Given the description of an element on the screen output the (x, y) to click on. 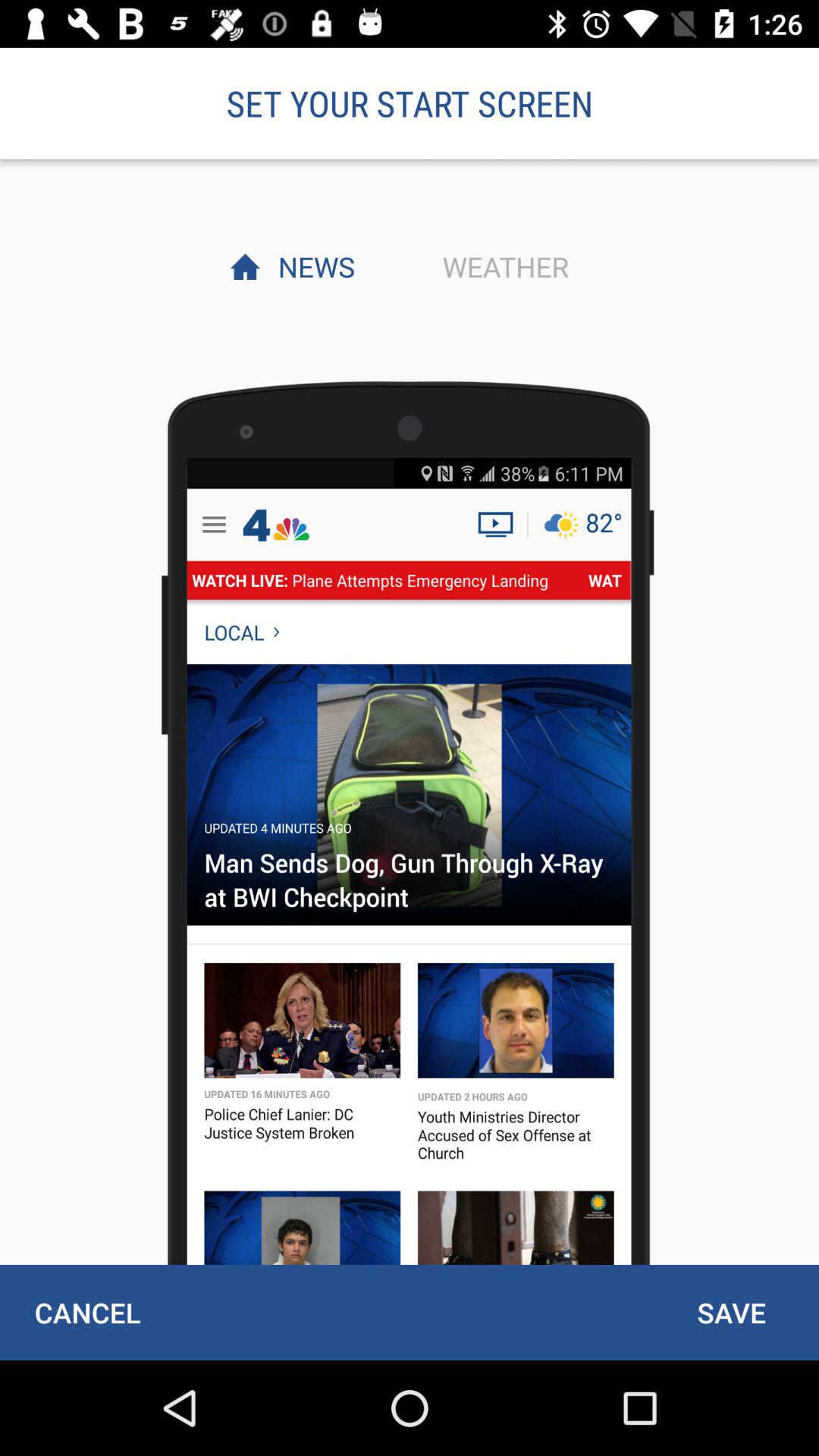
open cancel at the bottom left corner (87, 1312)
